Given the description of an element on the screen output the (x, y) to click on. 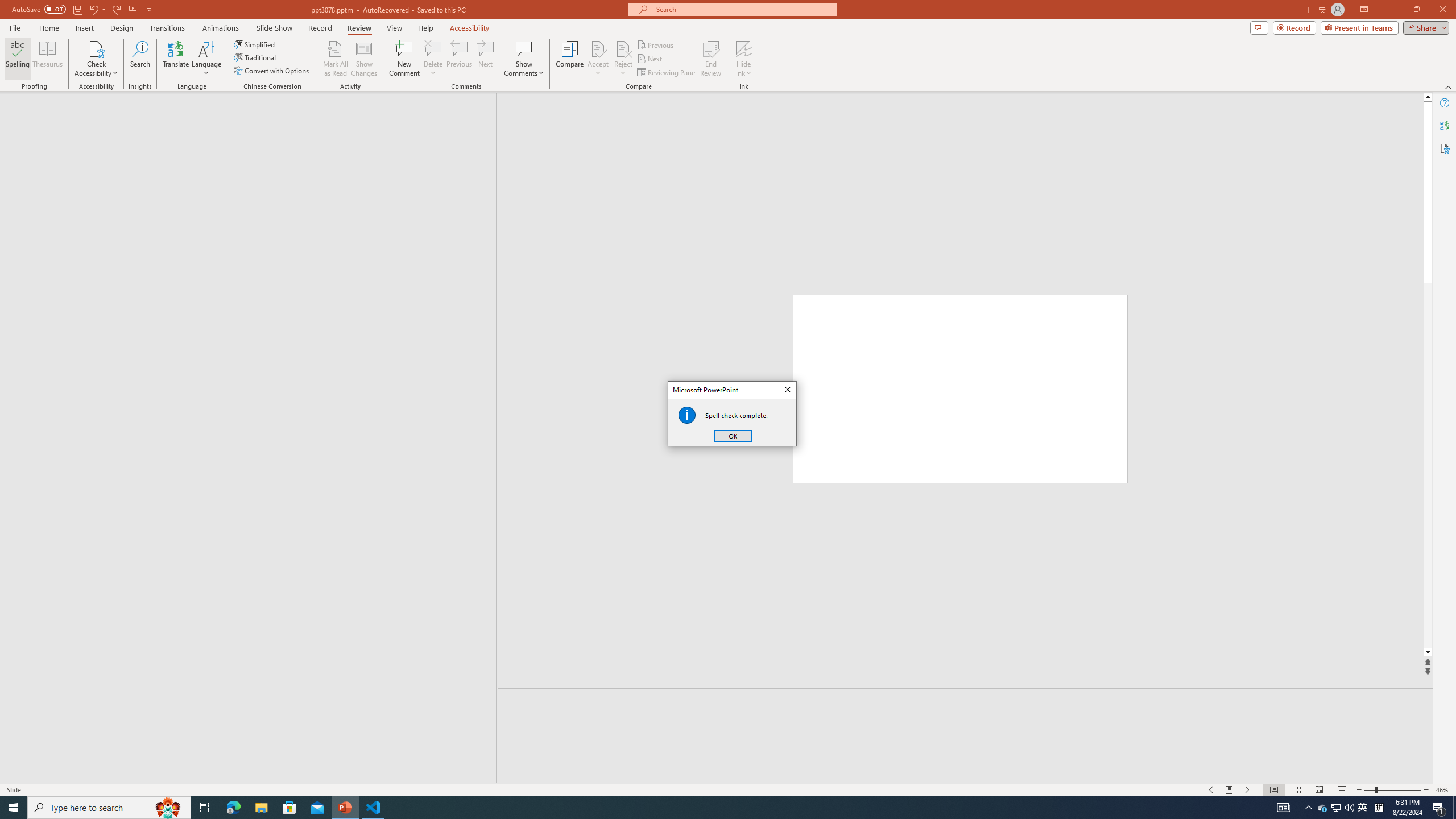
Quick Access Toolbar (82, 9)
Q2790: 100% (1349, 807)
